Given the description of an element on the screen output the (x, y) to click on. 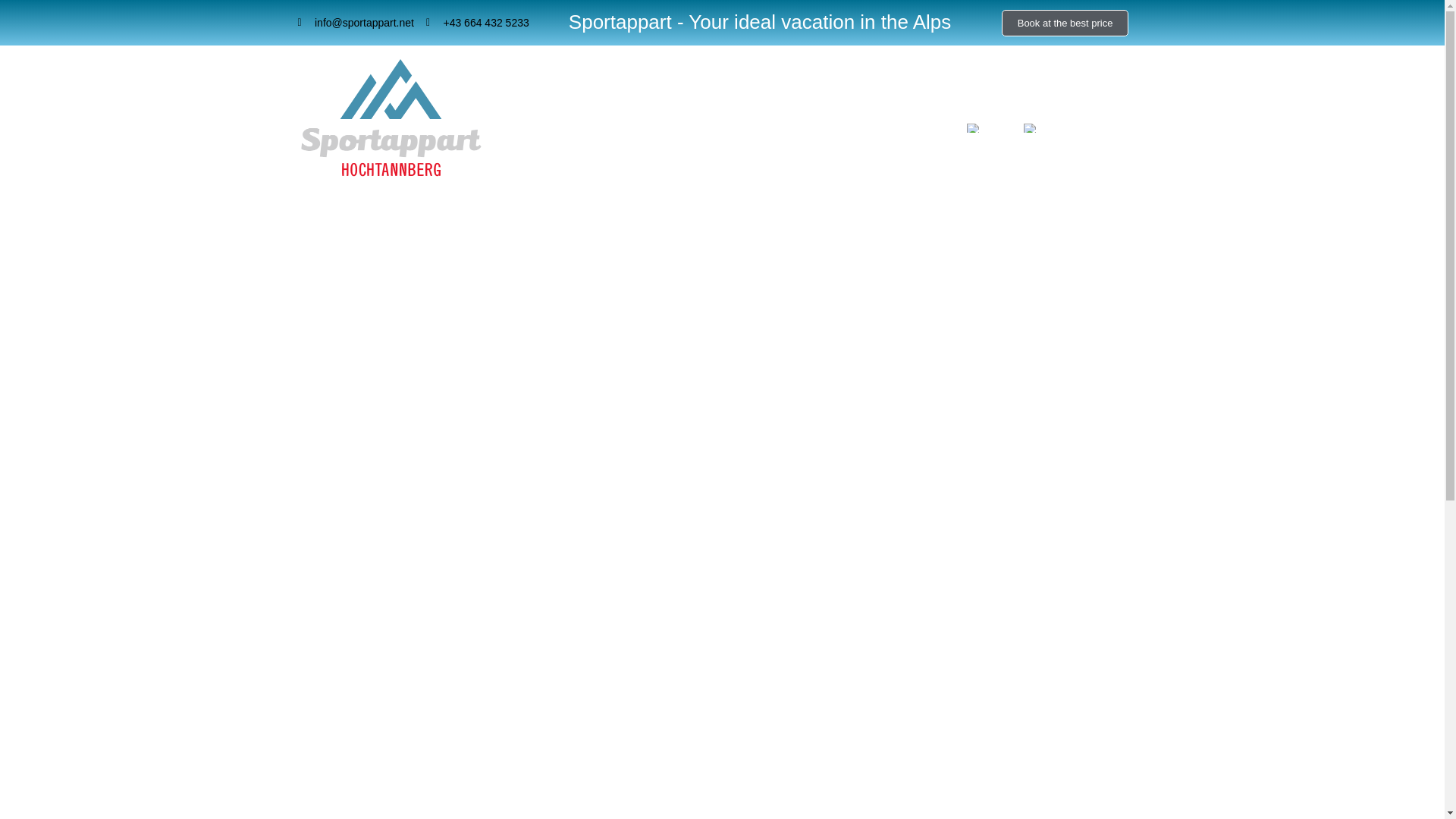
English (972, 127)
HOME (542, 130)
SUMMER (776, 130)
DE (1038, 130)
Book at the best price (1065, 22)
German (1029, 127)
WINTER (706, 130)
APARTMENTS (621, 130)
CONTACT (914, 130)
PRICES (844, 130)
